Given the description of an element on the screen output the (x, y) to click on. 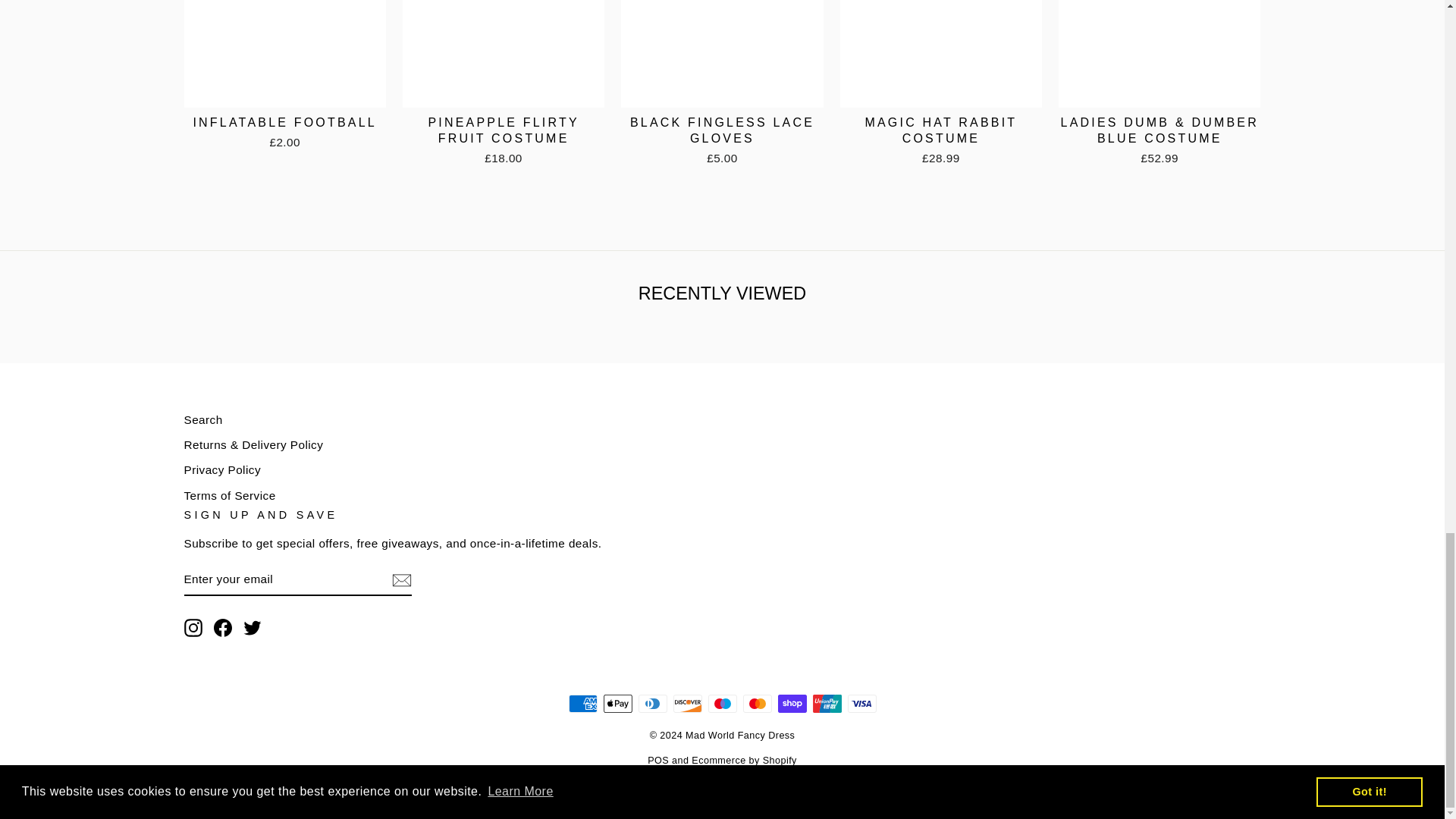
Diners Club (652, 703)
American Express (582, 703)
Apple Pay (617, 703)
Discover (686, 703)
Mad World Fancy Dress on Instagram (192, 628)
Mad World Fancy Dress on Facebook (222, 628)
Mad World Fancy Dress on Twitter (251, 628)
